Given the description of an element on the screen output the (x, y) to click on. 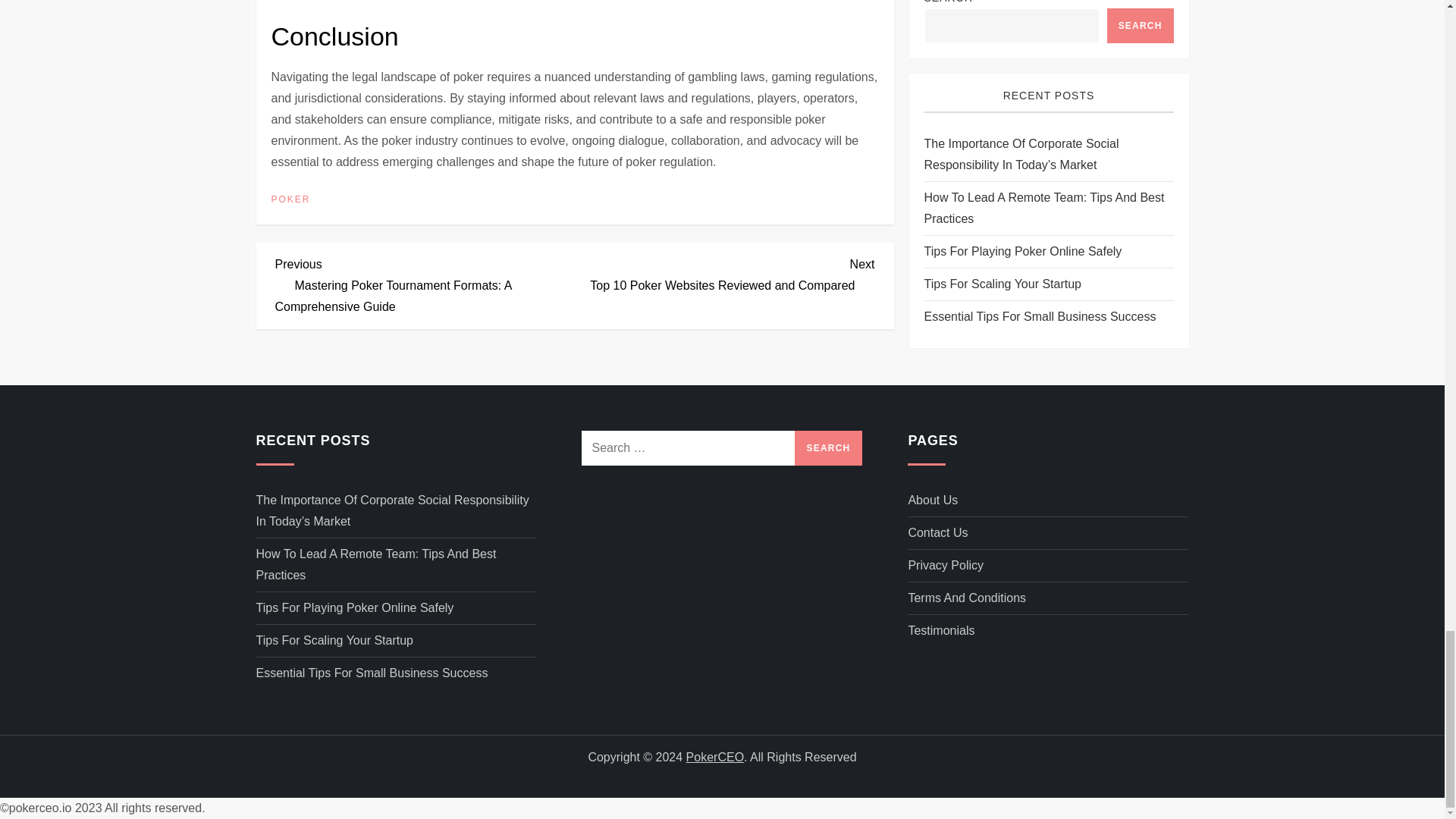
Essential Tips For Small Business Success (371, 672)
Tips For Scaling Your Startup (334, 640)
Contact Us (937, 532)
Tips For Playing Poker Online Safely (355, 608)
PokerCEO (714, 757)
Testimonials (940, 630)
Search (828, 448)
POKER (290, 200)
Search (828, 448)
Terms And Conditions (966, 598)
Search (725, 272)
Privacy Policy (828, 448)
How To Lead A Remote Team: Tips And Best Practices (945, 565)
